Given the description of an element on the screen output the (x, y) to click on. 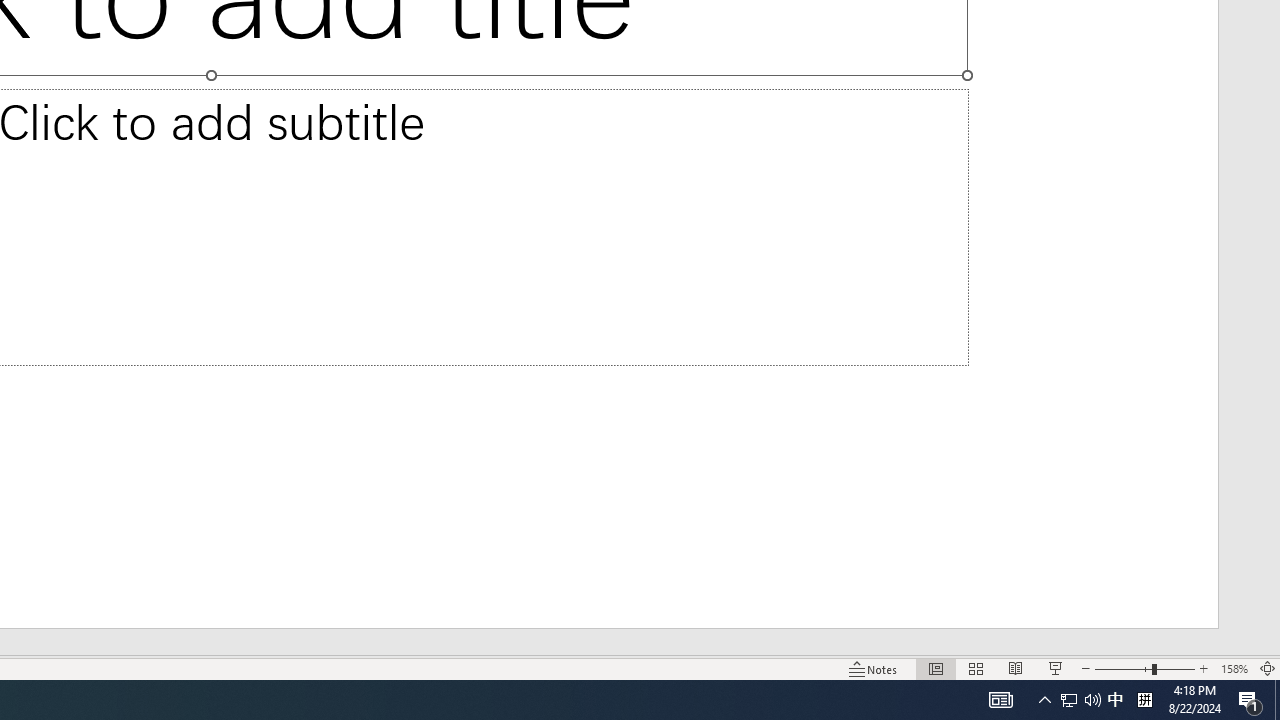
Zoom 158% (1234, 668)
